Given the description of an element on the screen output the (x, y) to click on. 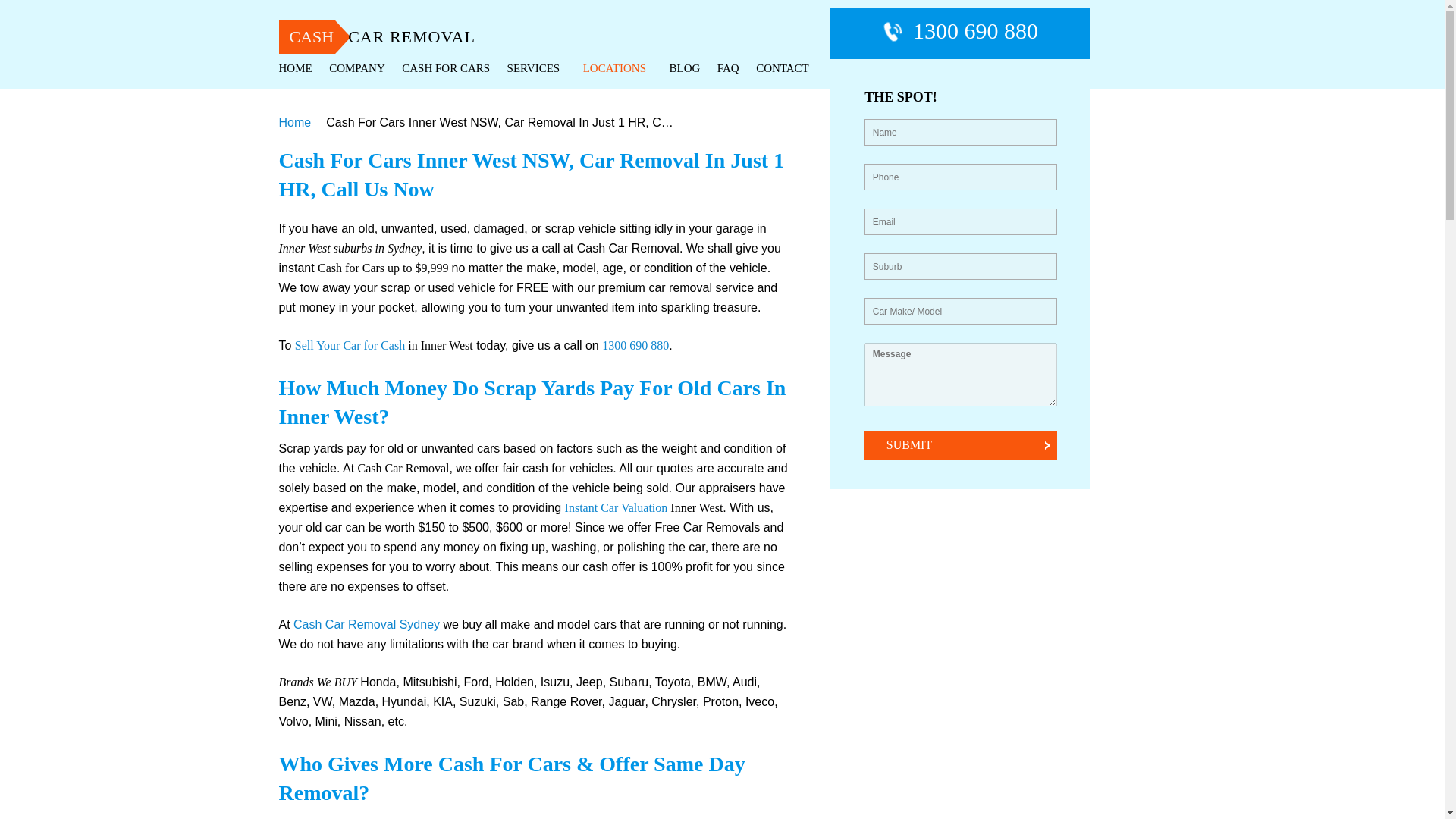
SERVICES (536, 69)
HOME (296, 69)
SUBMIT (960, 444)
Cash Car Removal Sydney (413, 37)
CASH FOR CARS (445, 69)
Home (296, 69)
Cash For Cars Sydney (445, 69)
CASH CAR REMOVAL (413, 37)
COMPANY (357, 69)
Company (357, 69)
